Given the description of an element on the screen output the (x, y) to click on. 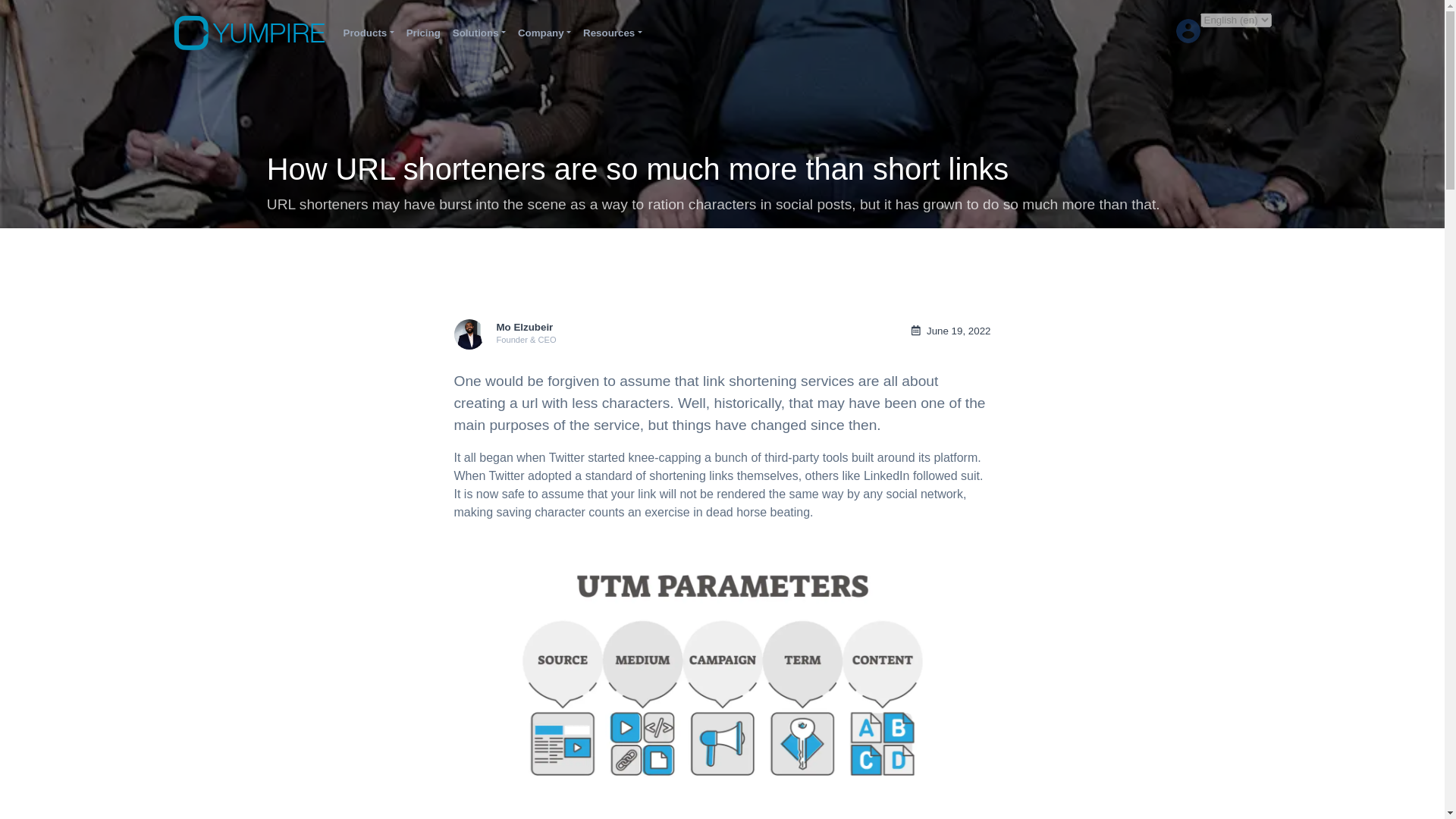
Resources (611, 32)
Pricing (423, 32)
Products (367, 32)
Solutions (479, 32)
Company (544, 32)
